Given the description of an element on the screen output the (x, y) to click on. 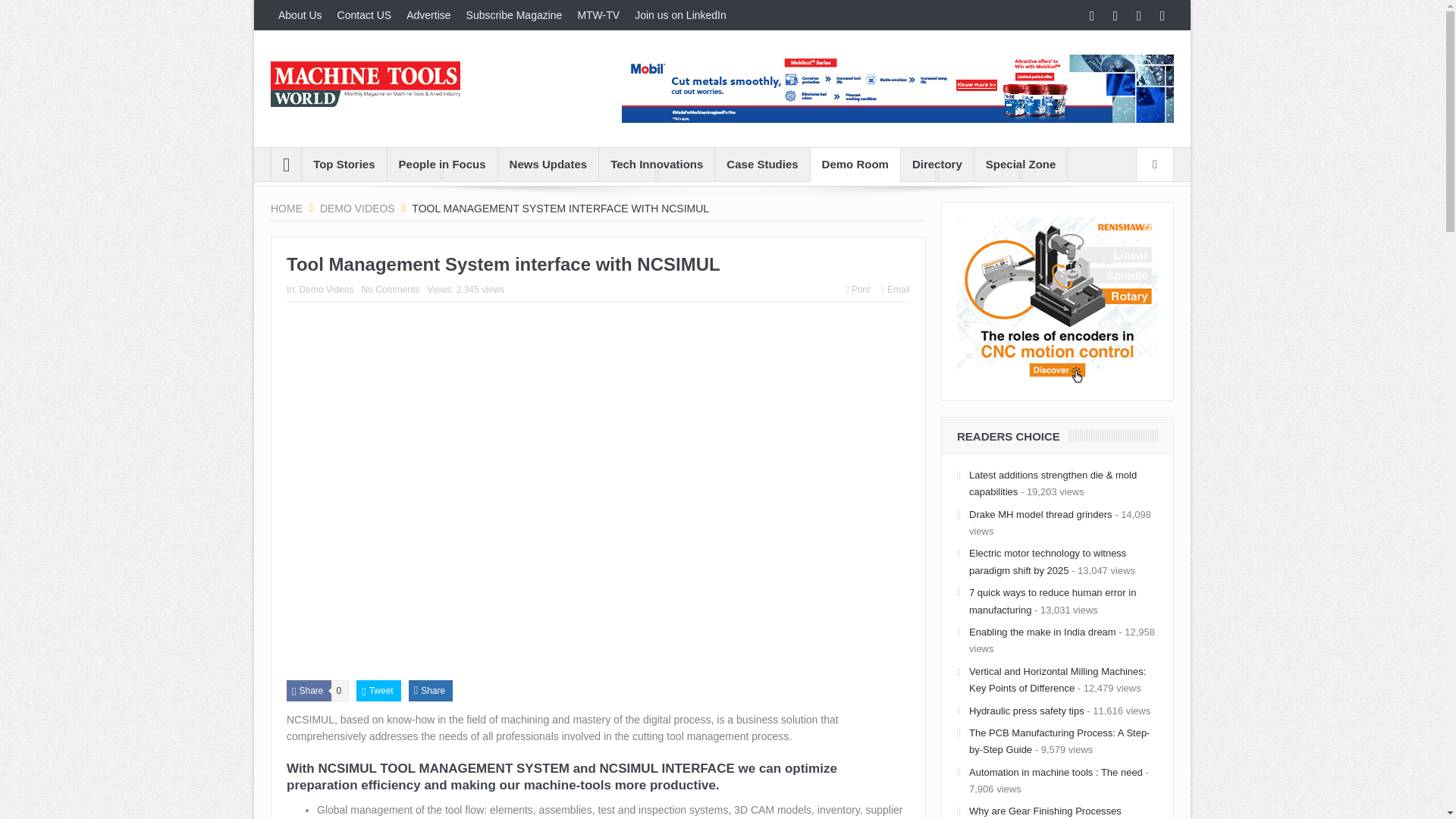
Advertise (428, 15)
Join us on LinkedIn (680, 15)
People in Focus (442, 164)
Top Stories (343, 164)
News Updates (547, 164)
MTW-TV (598, 15)
Contact US (364, 15)
Subscribe Magazine (514, 15)
Tech Innovations (656, 164)
About Us (300, 15)
